Given the description of an element on the screen output the (x, y) to click on. 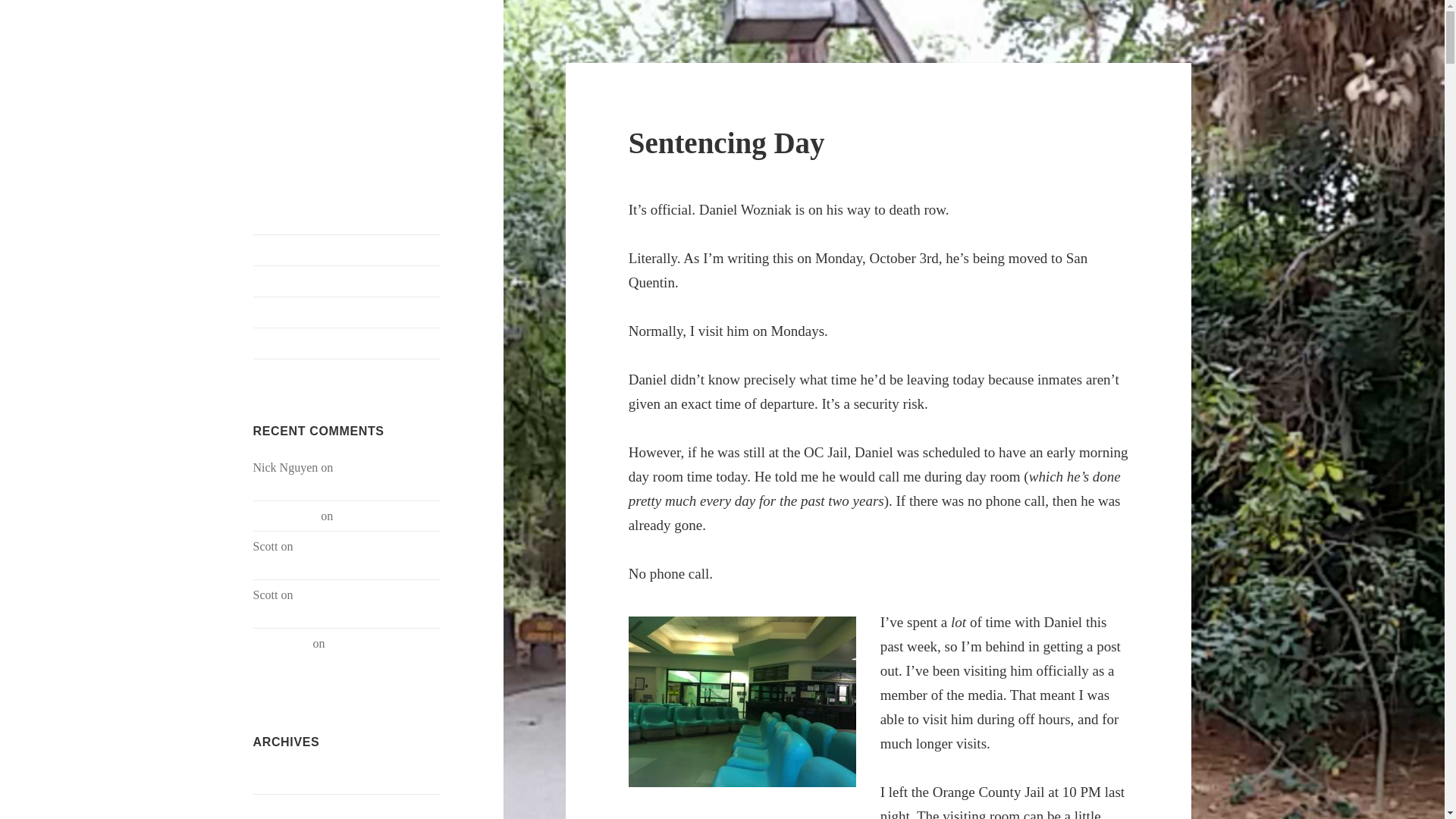
Slammer Slang (347, 312)
Lake Speed (281, 643)
I Went to Court! (375, 515)
May 2022 (277, 808)
Frequently Asked Questions (347, 281)
February 2024 (288, 778)
Updates and Some Answers to Questions (342, 603)
Start at the Beginning (347, 250)
Updates and Some Answers to Questions (336, 652)
Daniel Wozniak Is My Friend? (339, 86)
Glossary (347, 343)
Updates and Some Answers to Questions (342, 554)
Nick Nguyen (285, 515)
